Given the description of an element on the screen output the (x, y) to click on. 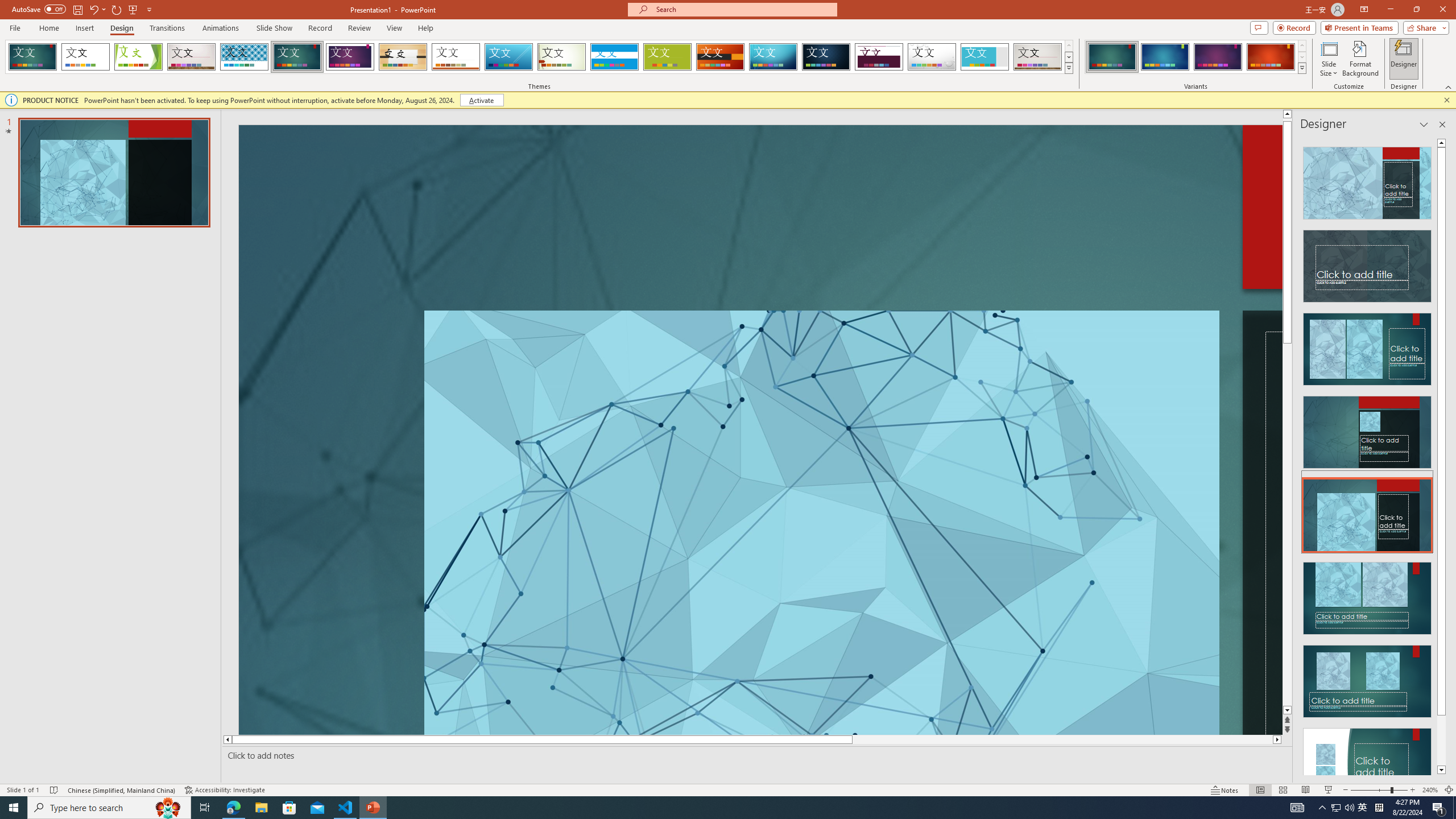
Ion Variant 1 (1112, 56)
Retrospect (455, 56)
Frame (984, 56)
